Given the description of an element on the screen output the (x, y) to click on. 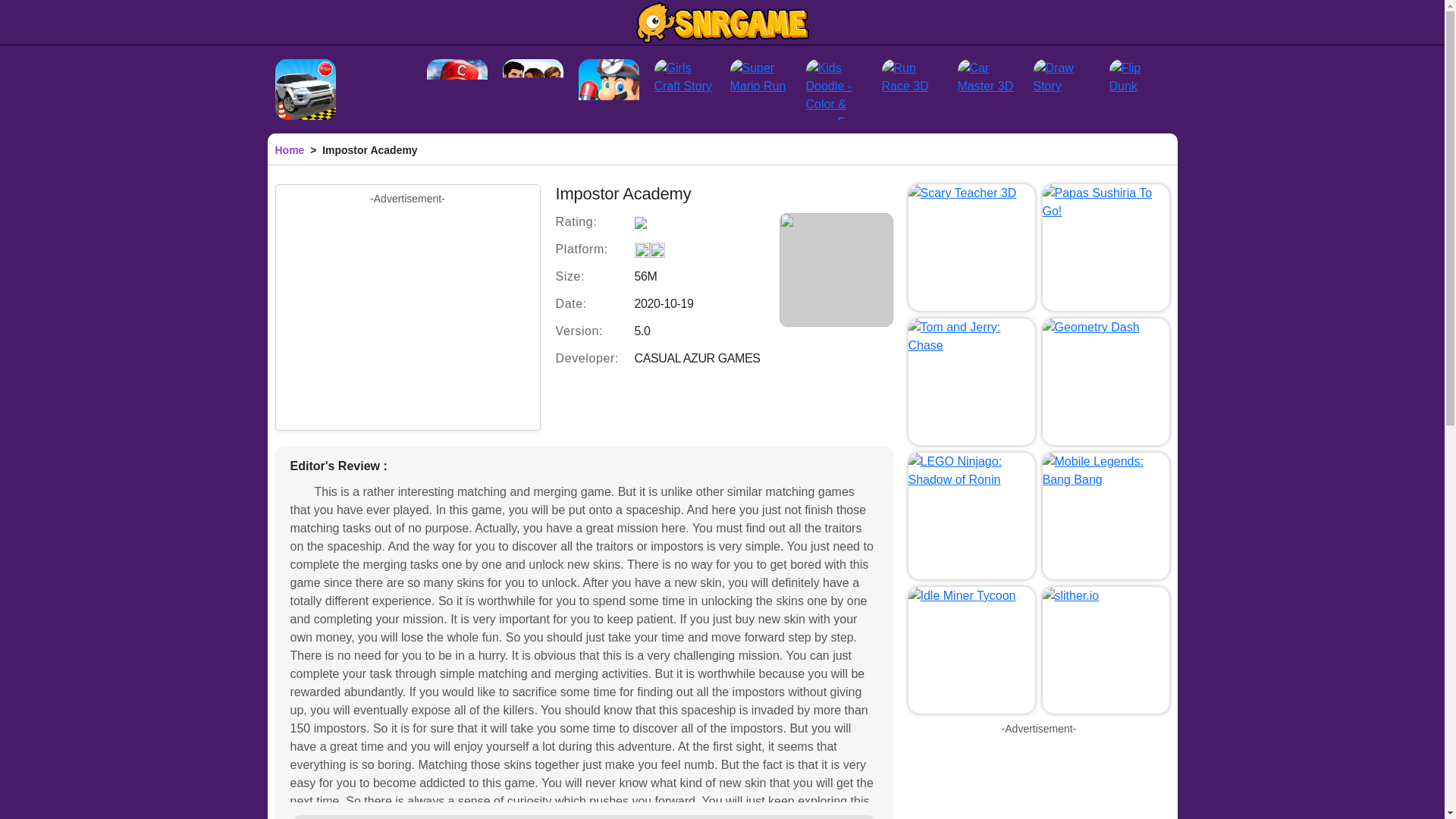
SNRGame-Home (721, 21)
Episode - Choose Your Story (532, 88)
Water Race 3D (380, 88)
LEGO Ninjago: Shadow of Ronin (971, 515)
Geometry Dash (1105, 381)
Home (289, 150)
Car Master 3D (986, 88)
Run Race 3D (911, 88)
Papas Sushiria To Go! (1105, 247)
Flip Dunk (1138, 88)
